Given the description of an element on the screen output the (x, y) to click on. 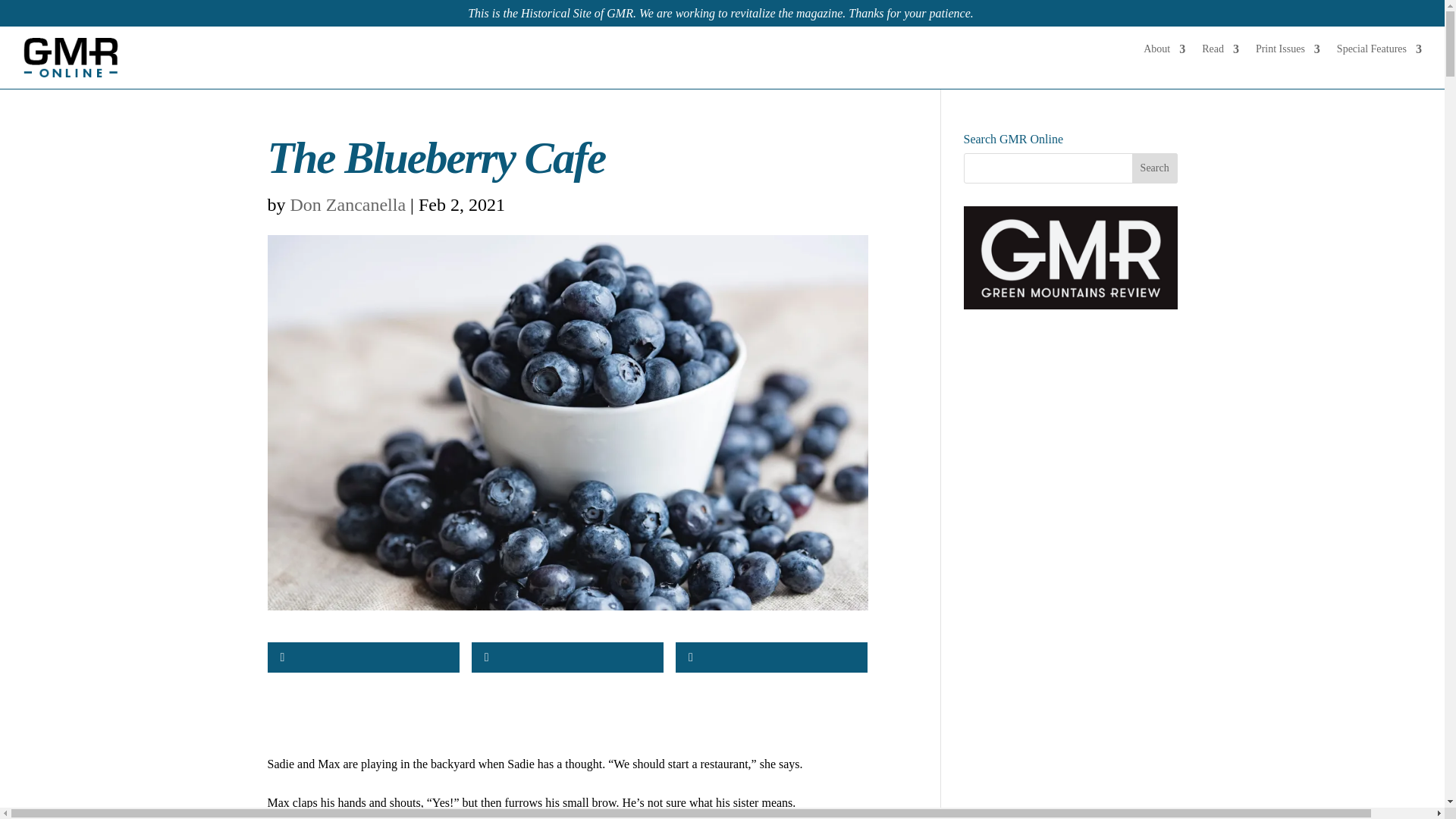
Posts by Don Zancanella (347, 204)
GMR-Online (71, 56)
Read (1220, 52)
Search (1154, 168)
Special Features (1379, 52)
Don Zancanella (347, 204)
About (1163, 52)
Print Issues (1287, 52)
